Given the description of an element on the screen output the (x, y) to click on. 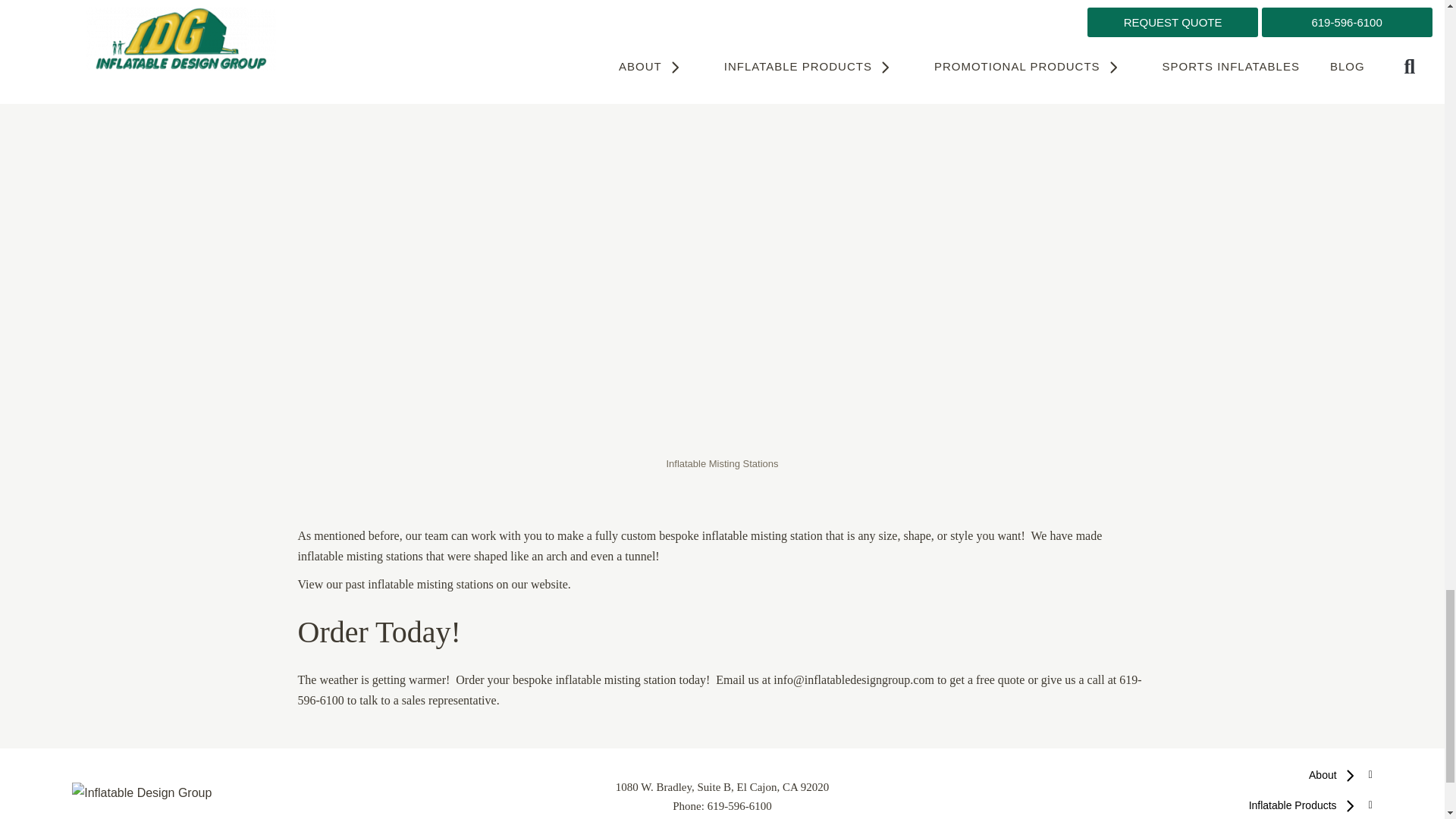
Inflatable Design Group (141, 792)
